Given the description of an element on the screen output the (x, y) to click on. 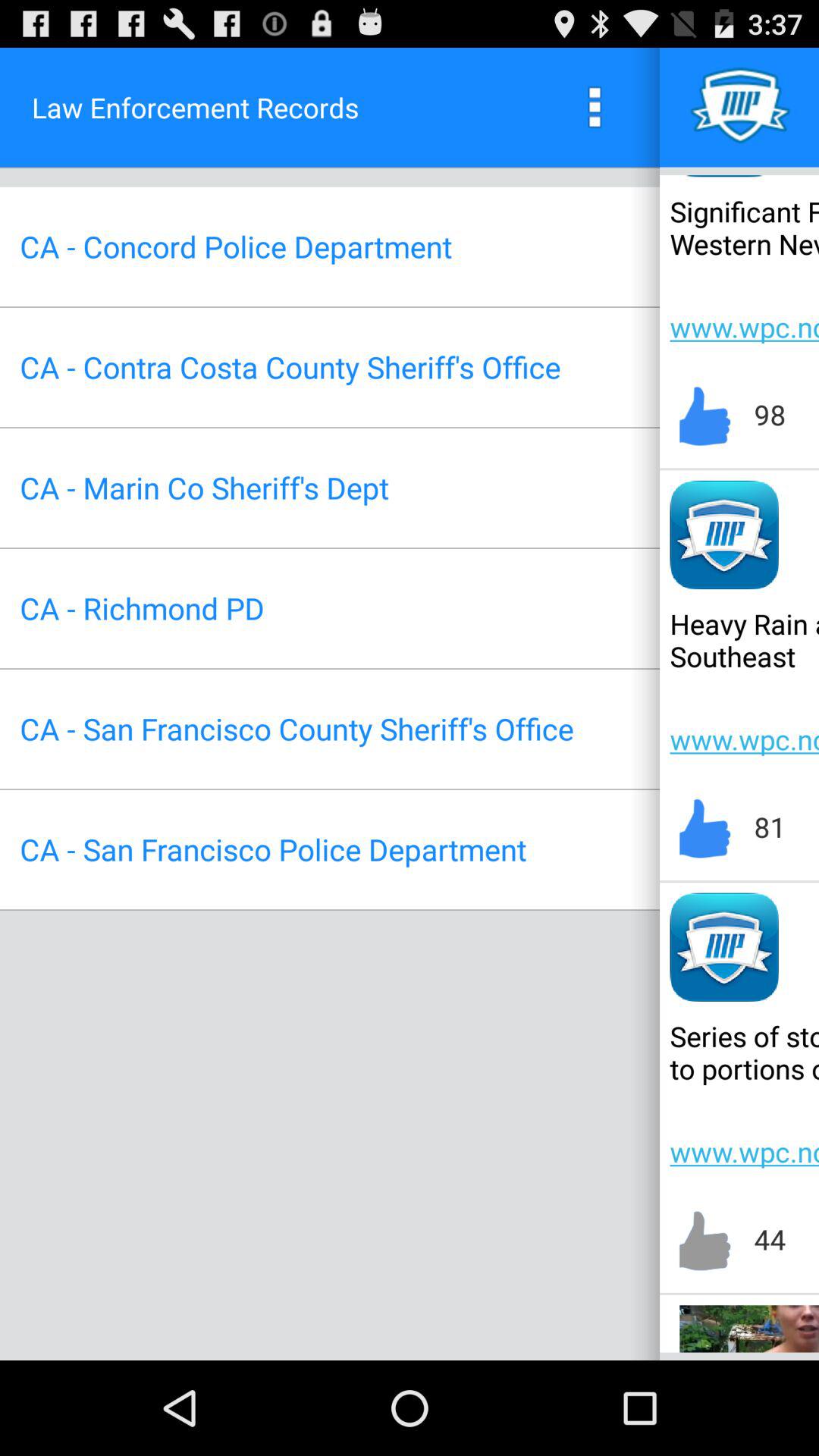
tap ca marin co icon (204, 487)
